Given the description of an element on the screen output the (x, y) to click on. 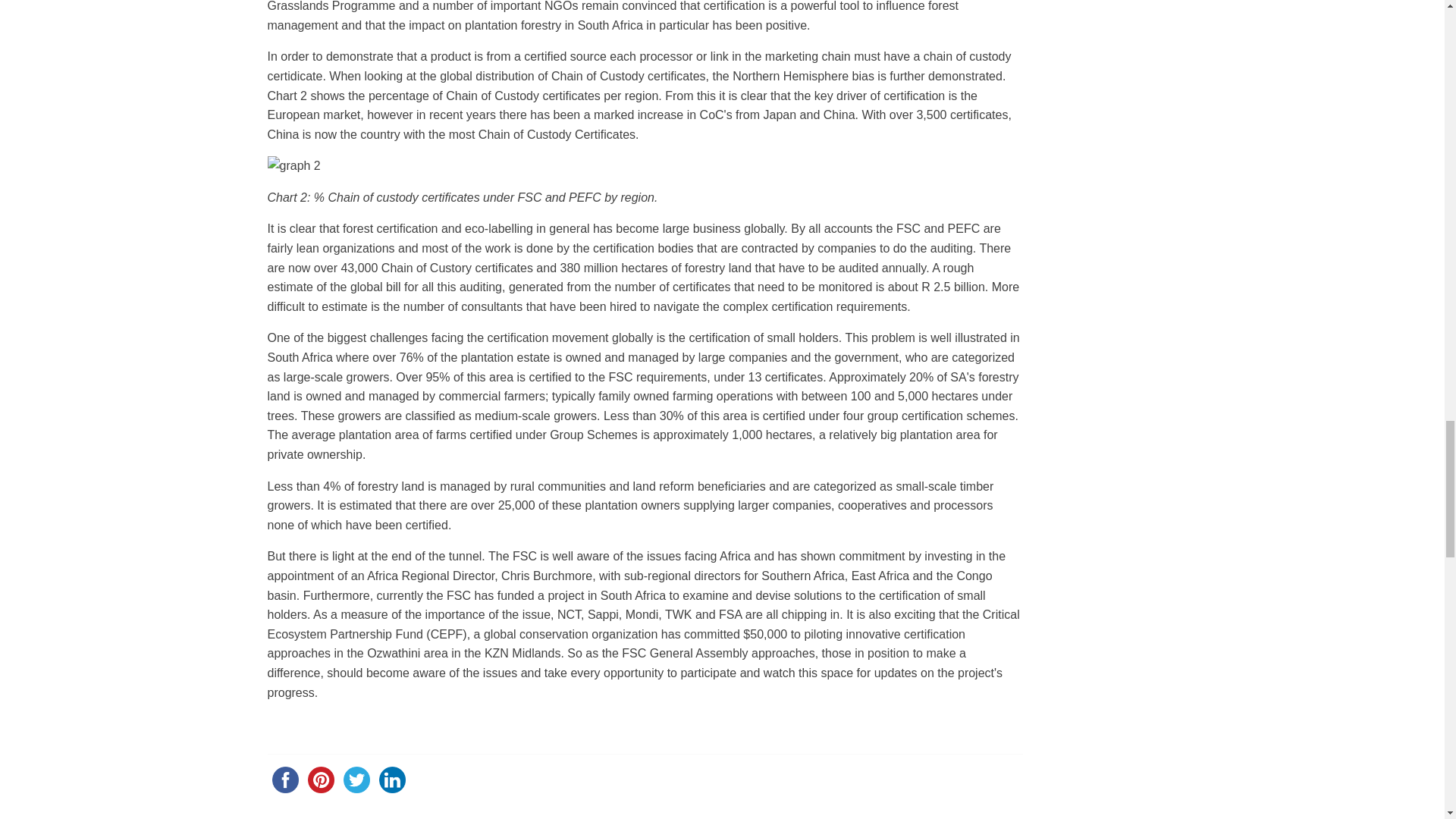
linkedin (392, 779)
graph 2 (293, 166)
twitter (355, 779)
pinterest (320, 779)
facebook (284, 779)
